Given the description of an element on the screen output the (x, y) to click on. 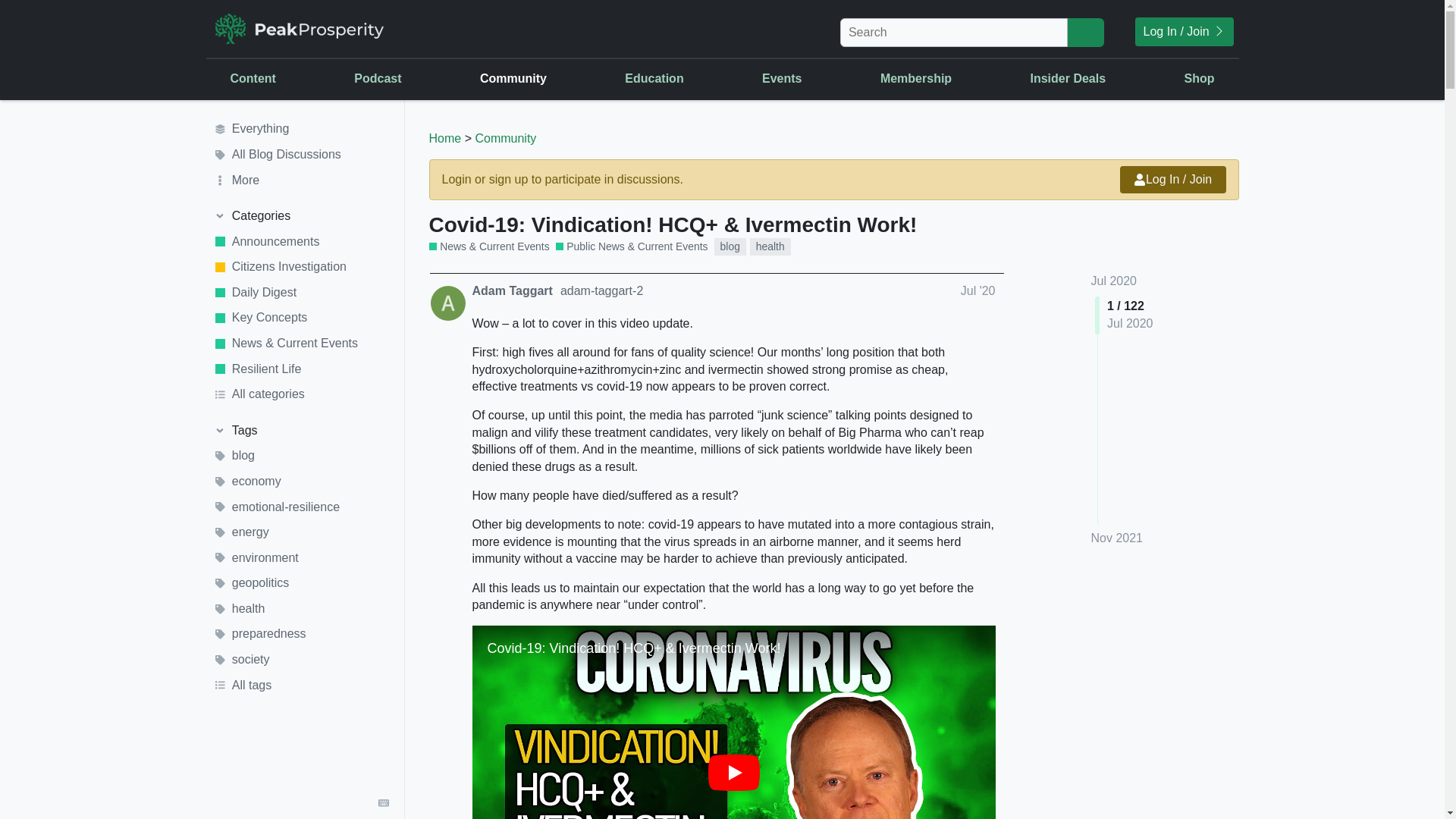
Forum (638, 178)
health (769, 246)
All Blog Discussions (301, 154)
preparedness (301, 634)
Announcements (301, 241)
society (301, 659)
Tags (301, 430)
Community (513, 78)
blog (301, 456)
All Content (388, 265)
Community (504, 137)
All tags (301, 685)
Key Concepts (301, 318)
Podcast (377, 78)
More (301, 180)
